Given the description of an element on the screen output the (x, y) to click on. 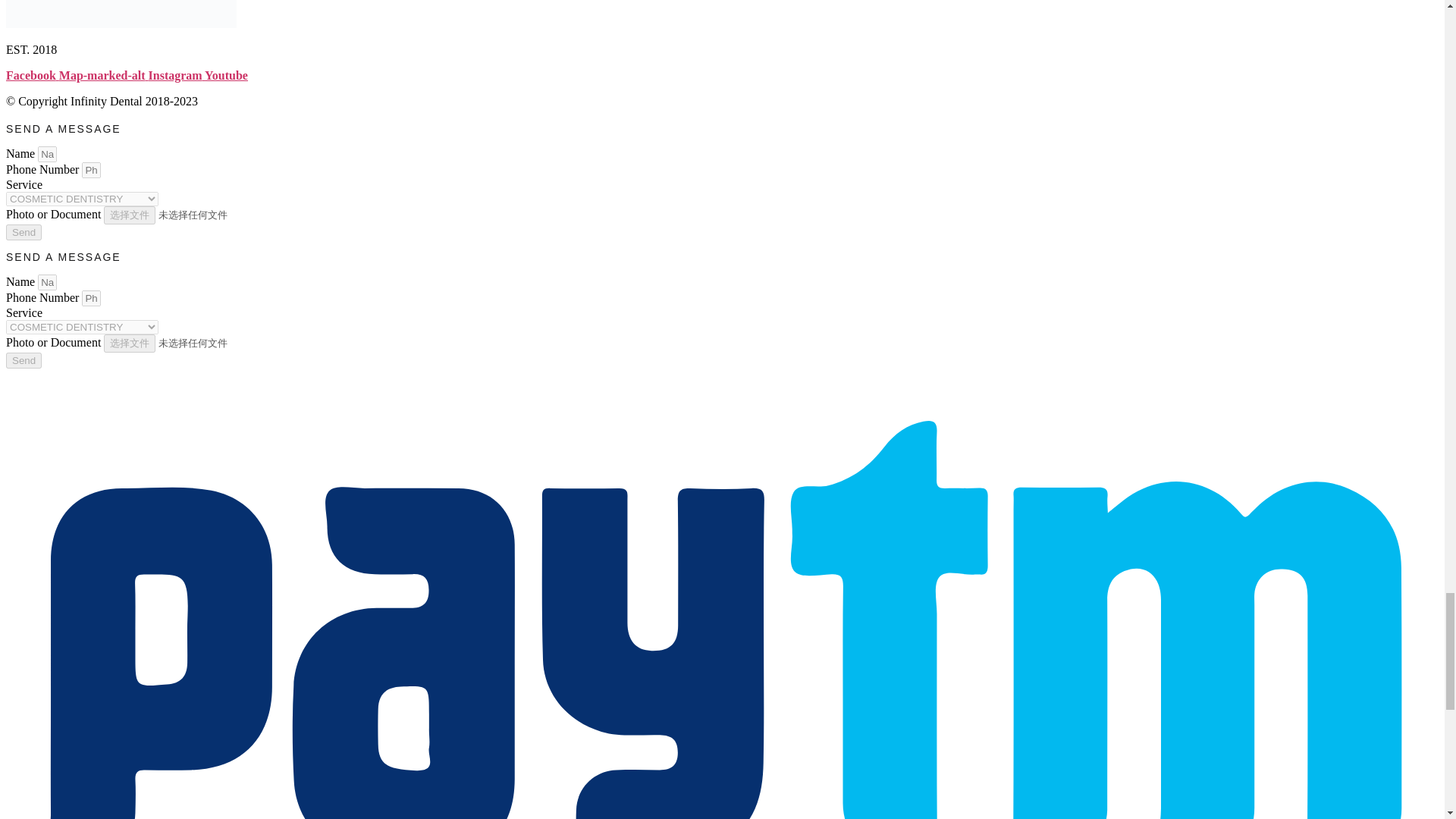
Send (23, 360)
Facebook (32, 74)
Map-marked-alt (103, 74)
Send (23, 232)
Instagram (176, 74)
Youtube (226, 74)
